Given the description of an element on the screen output the (x, y) to click on. 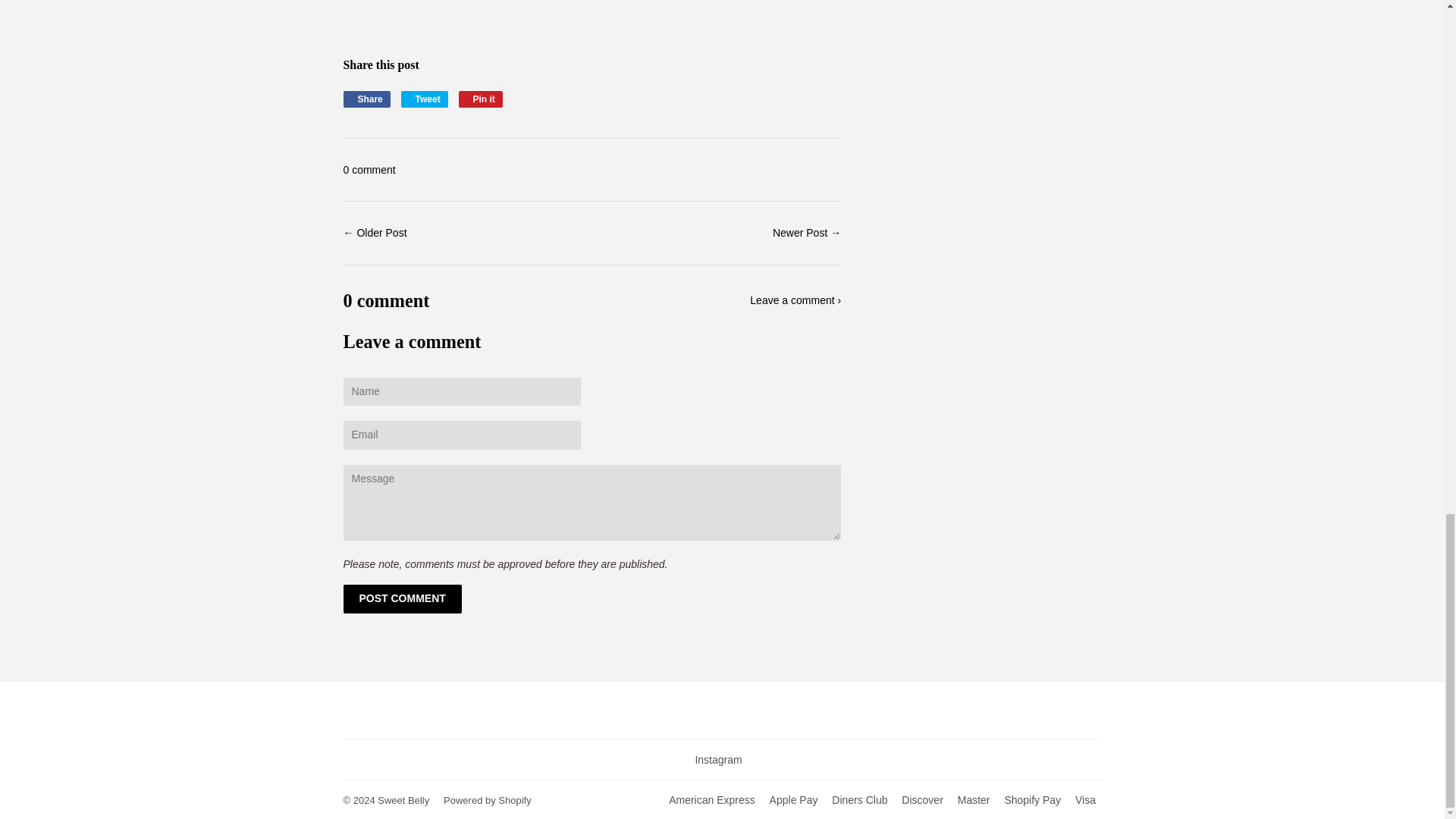
0 comment (424, 98)
Post comment (368, 169)
Tweet on Twitter (401, 598)
Post comment (424, 98)
Pin on Pinterest (401, 598)
Share on Facebook (480, 98)
